Given the description of an element on the screen output the (x, y) to click on. 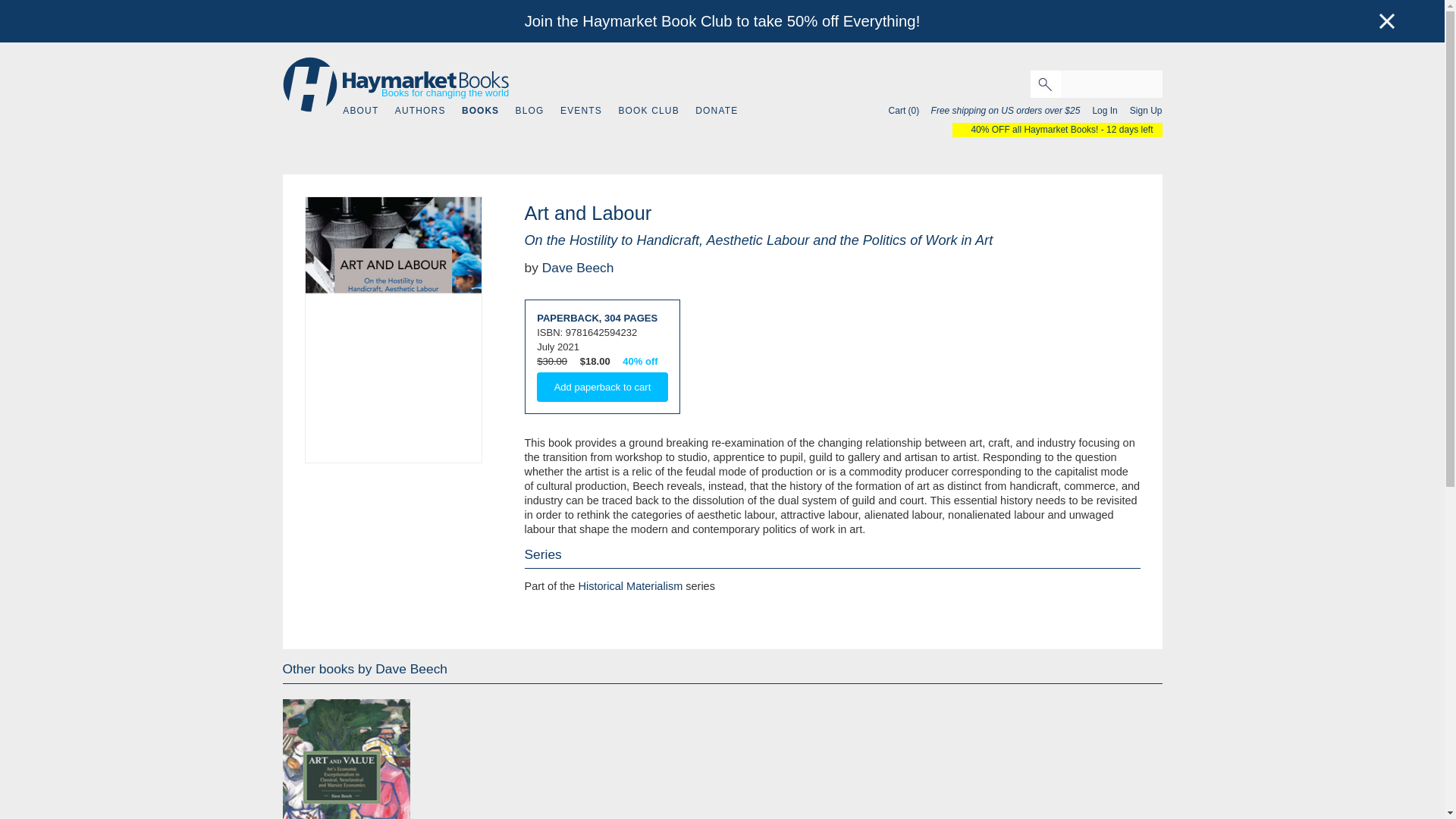
Dave Beech (577, 267)
PAPERBACK (567, 317)
Add paperback to cart (602, 387)
304 PAGES (631, 317)
Log In (1099, 110)
AUTHORS (419, 110)
DONATE (716, 110)
BOOK CLUB (647, 110)
ABOUT (360, 110)
Add paperback to cart (602, 387)
